Given the description of an element on the screen output the (x, y) to click on. 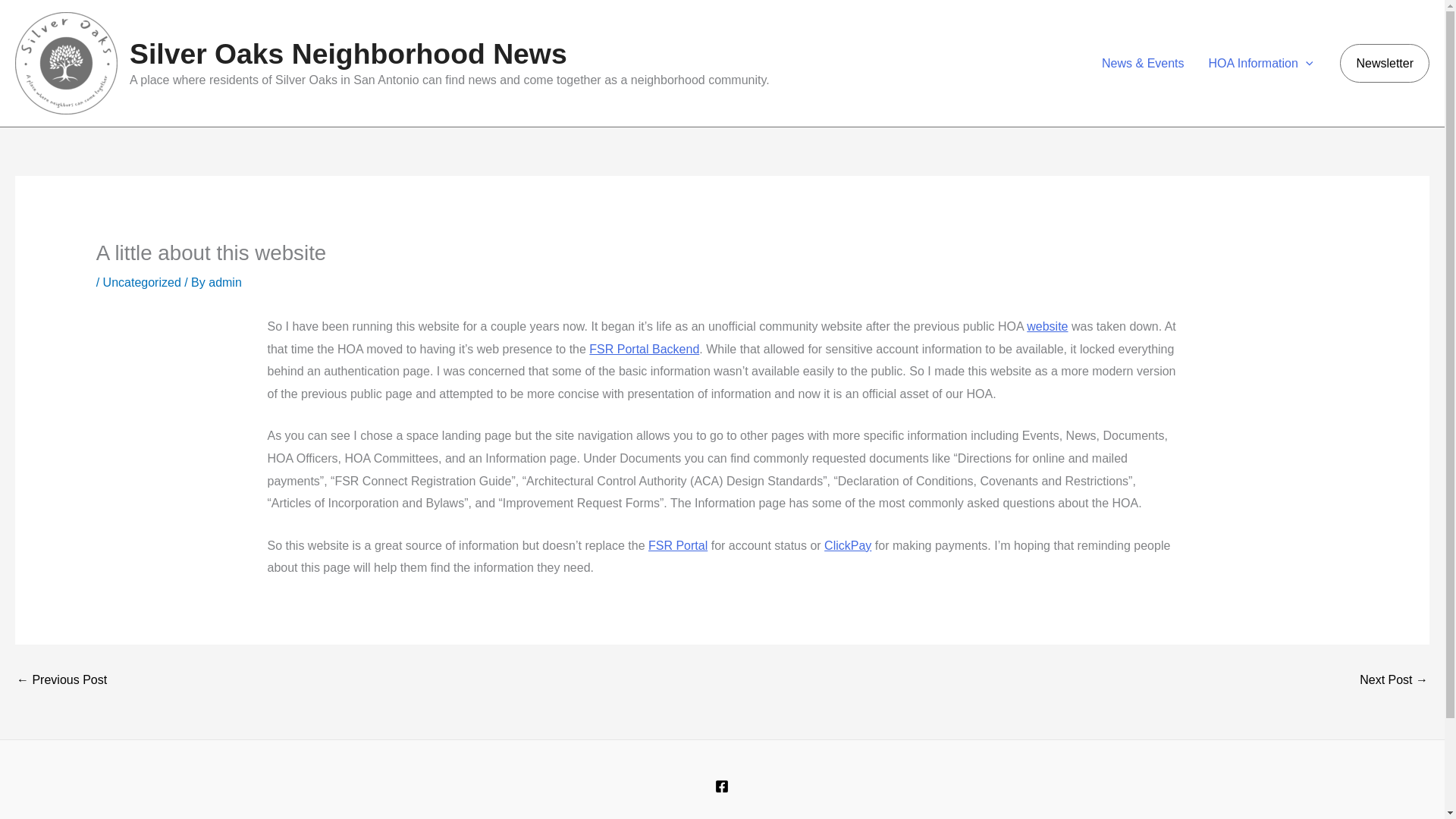
HOA Information (1260, 63)
Community Volunteer Form (61, 680)
Uncategorized (141, 282)
Silver Oaks Neighborhood News (348, 53)
View all posts by admin (224, 282)
FSR Portal Backend (643, 349)
Easter Bunny Photos (1393, 680)
ClickPay (847, 545)
FSR Portal (677, 545)
admin (224, 282)
